Given the description of an element on the screen output the (x, y) to click on. 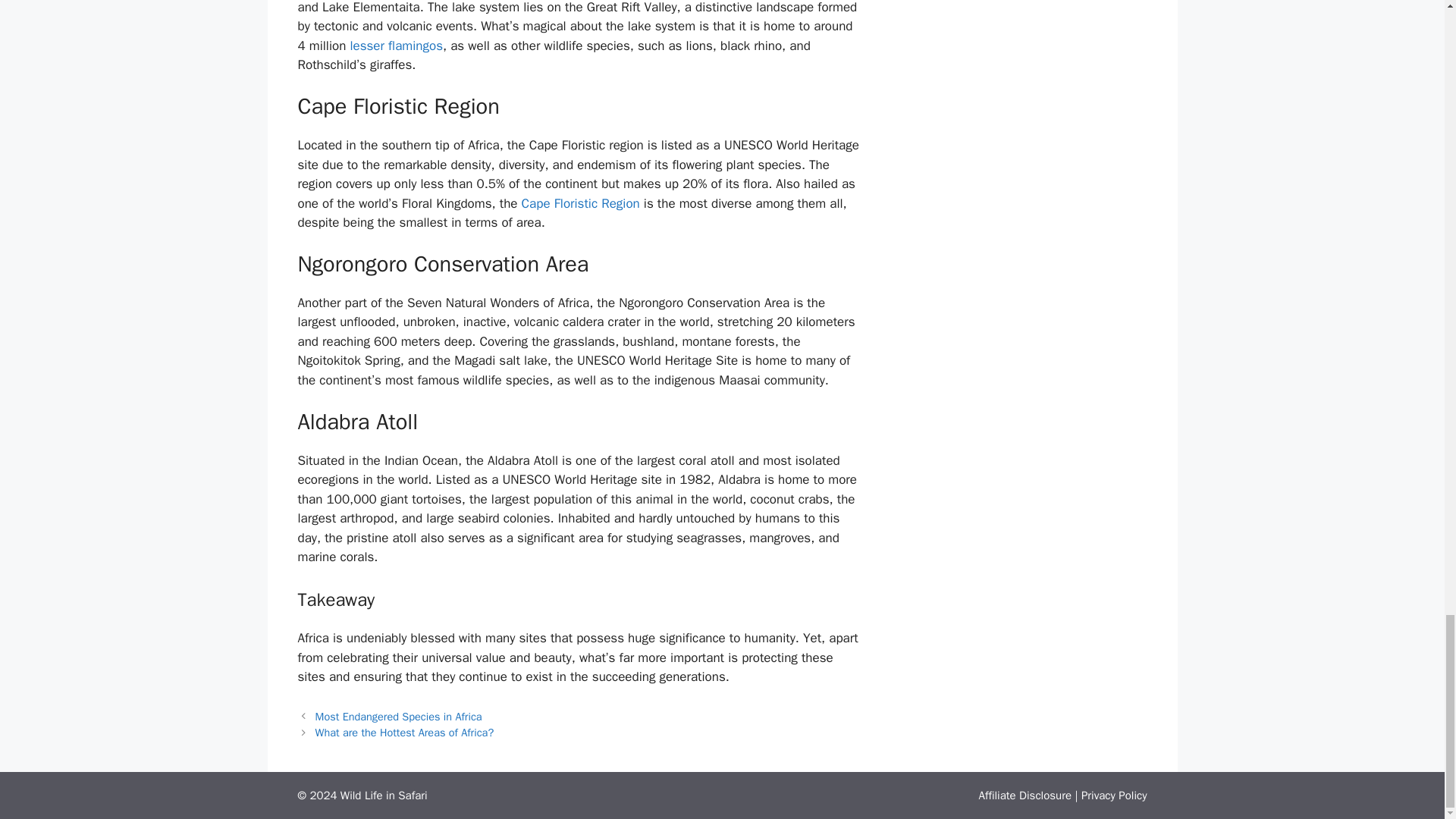
Most Endangered Species in Africa (398, 716)
lesser flamingos (395, 45)
What are the Hottest Areas of Africa? (405, 732)
Cape Floristic Region (580, 203)
